Given the description of an element on the screen output the (x, y) to click on. 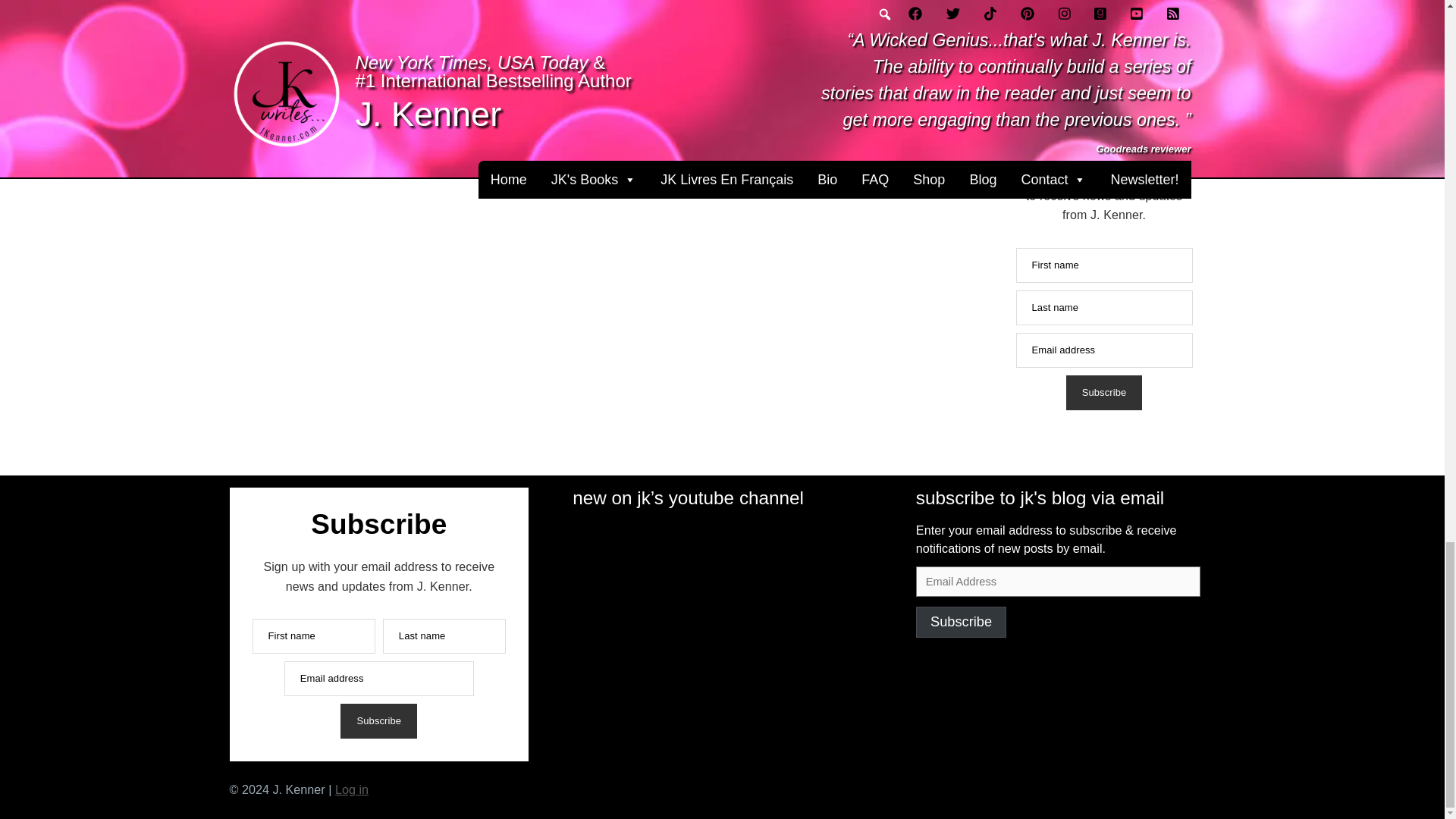
Submit (1020, 6)
